Given the description of an element on the screen output the (x, y) to click on. 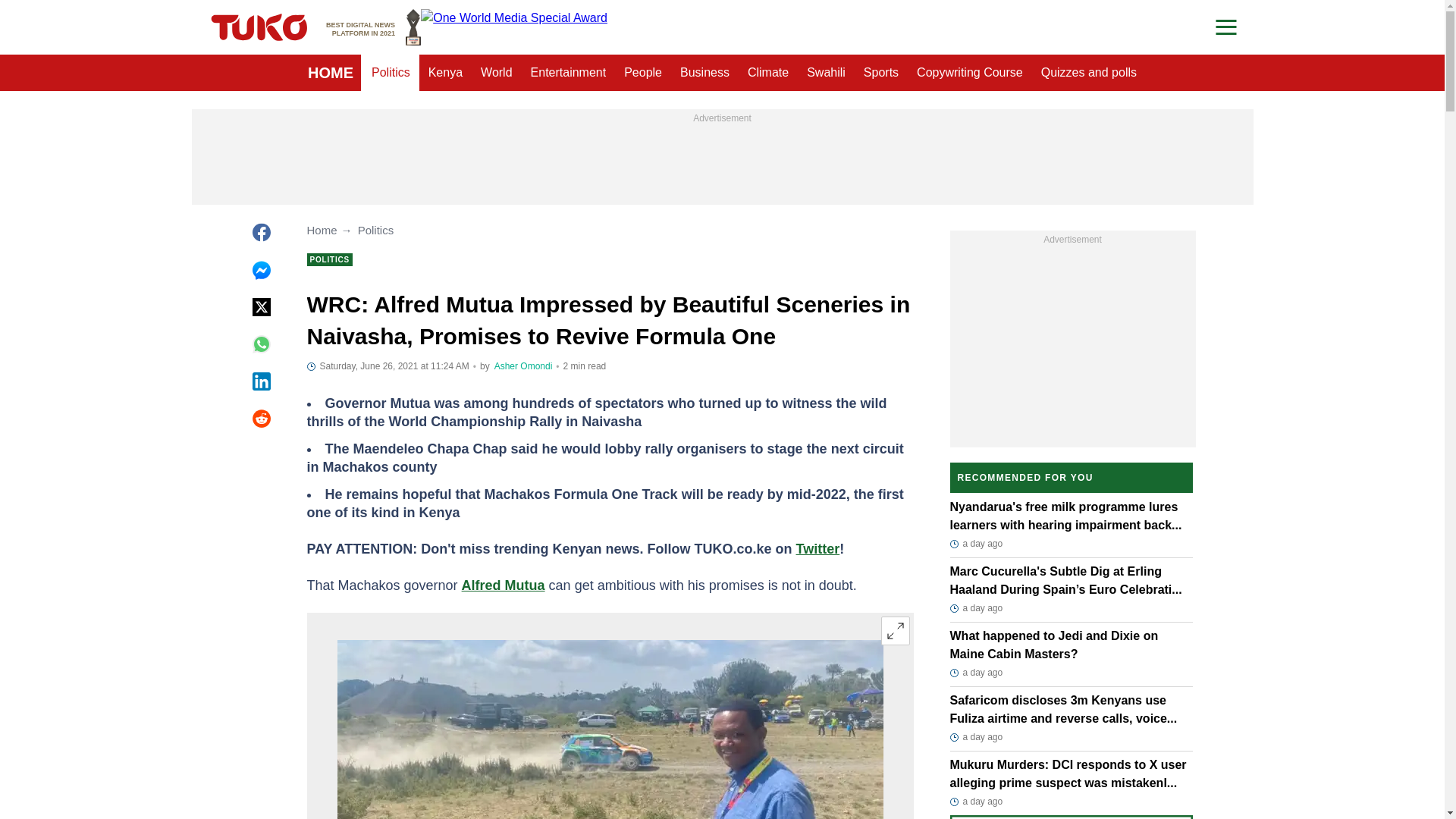
Copywriting Course (969, 72)
Quizzes and polls (1088, 72)
Business (704, 72)
Entertainment (568, 72)
Author page (524, 366)
People (373, 27)
Expand image (642, 72)
Climate (895, 630)
Politics (767, 72)
Sports (390, 72)
World (880, 72)
HOME (496, 72)
Swahili (330, 72)
Kenya (825, 72)
